Given the description of an element on the screen output the (x, y) to click on. 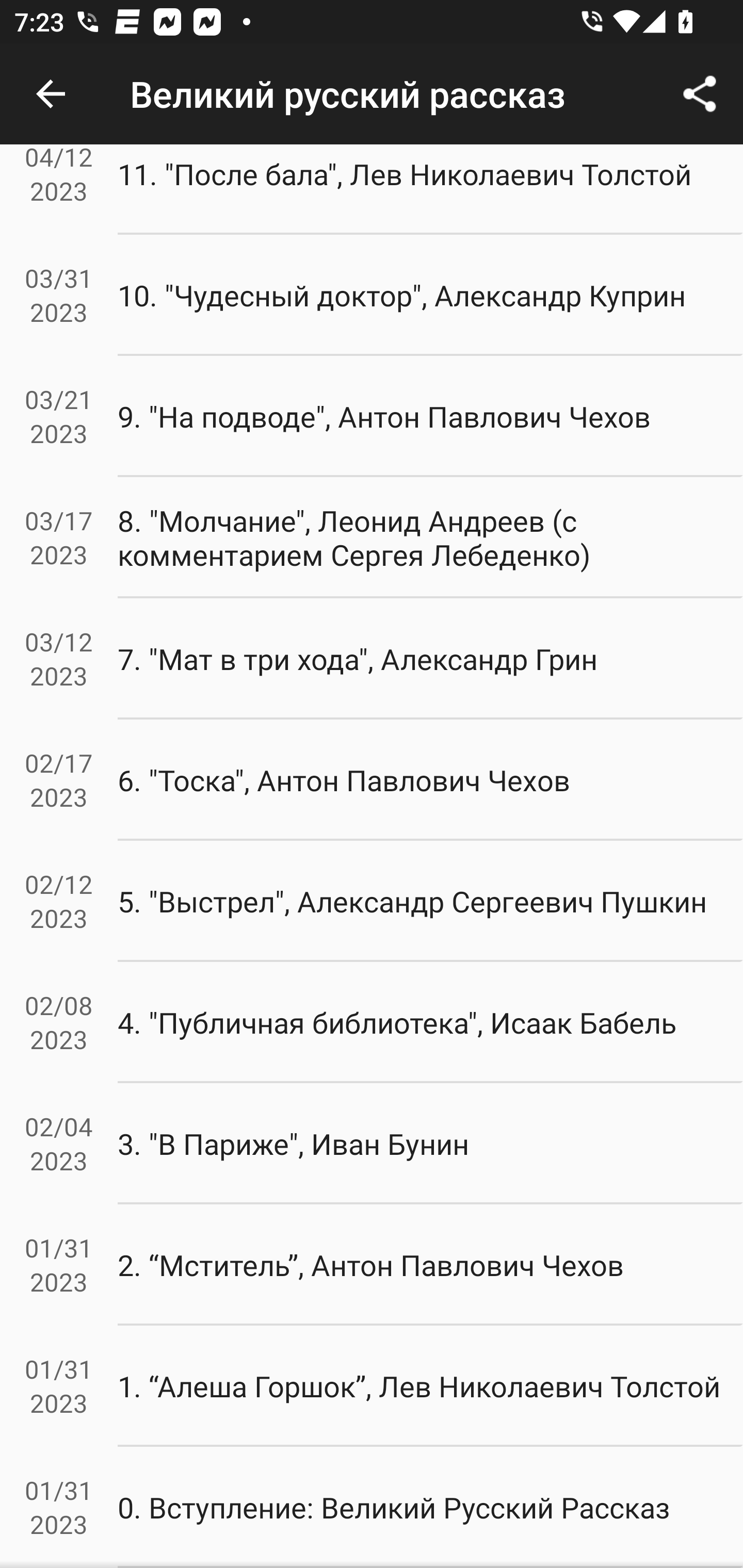
04/21 2023 12. "Соль", Исаак Бабель (371, 77)
Navigate up (50, 93)
Share... (699, 93)
03/31 2023 10. "Чудесный доктор", Александр Куприн (371, 295)
03/21 2023 9. "На подводе", Антон Павлович Чехов (371, 415)
03/12 2023 7. "Мат в три хода", Александр Грин (371, 658)
02/17 2023 6. "Тоска", Антон Павлович Чехов (371, 779)
02/08 2023 4. "Публичная библиотека", Исаак Бабель (371, 1022)
02/04 2023 3. "В Париже", Иван Бунин (371, 1143)
01/31 2023 2. “Мститель”, Антон Павлович Чехов (371, 1264)
01/31 2023 0. Вступление: Великий Русский Рассказ (371, 1507)
